Given the description of an element on the screen output the (x, y) to click on. 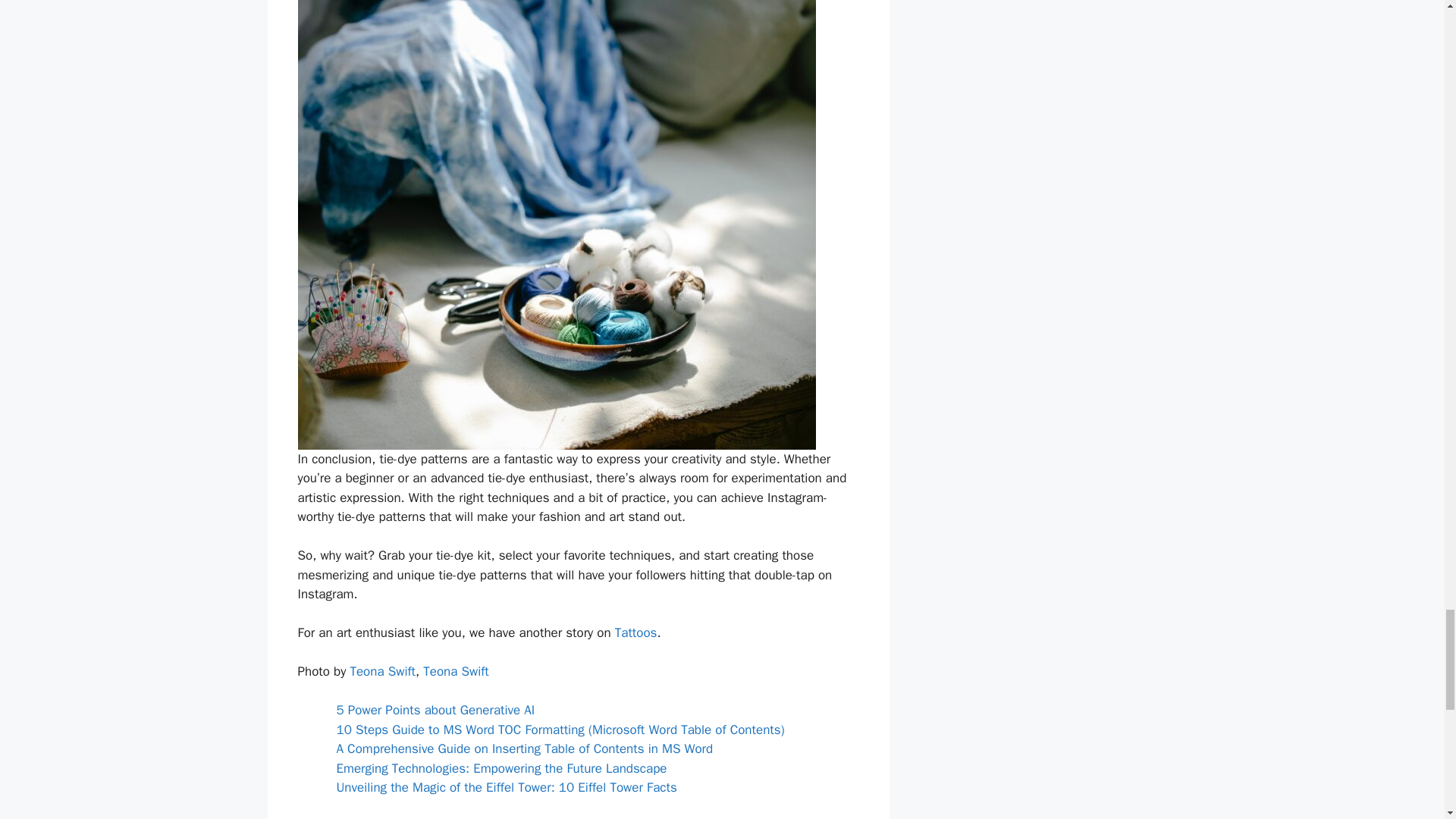
Teona Swift (381, 671)
Teona Swift (456, 671)
Emerging Technologies: Empowering the Future Landscape (501, 768)
Tattoos (636, 632)
5 Power Points about Generative AI (435, 709)
